Given the description of an element on the screen output the (x, y) to click on. 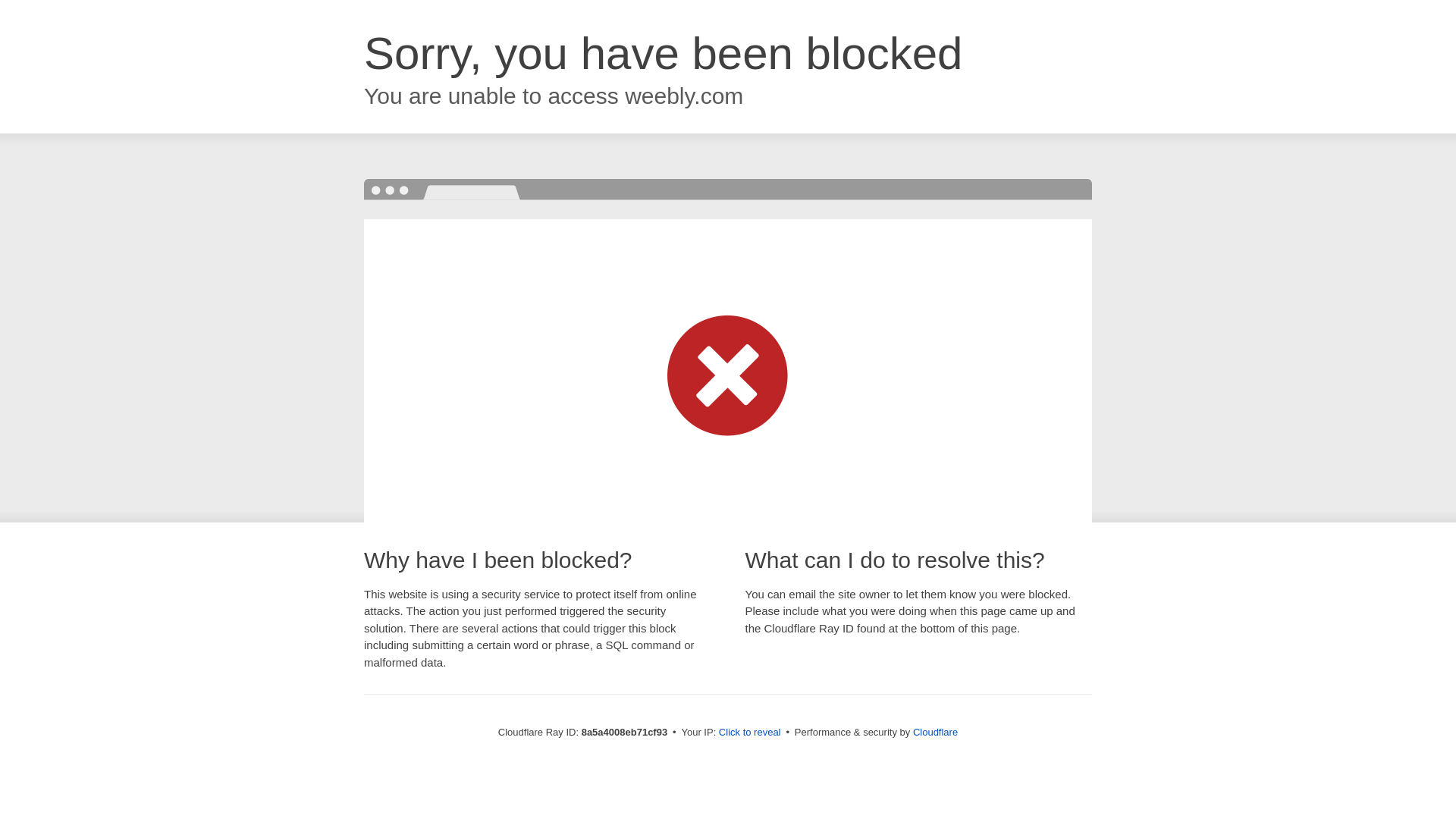
Cloudflare (935, 731)
Click to reveal (749, 732)
